Given the description of an element on the screen output the (x, y) to click on. 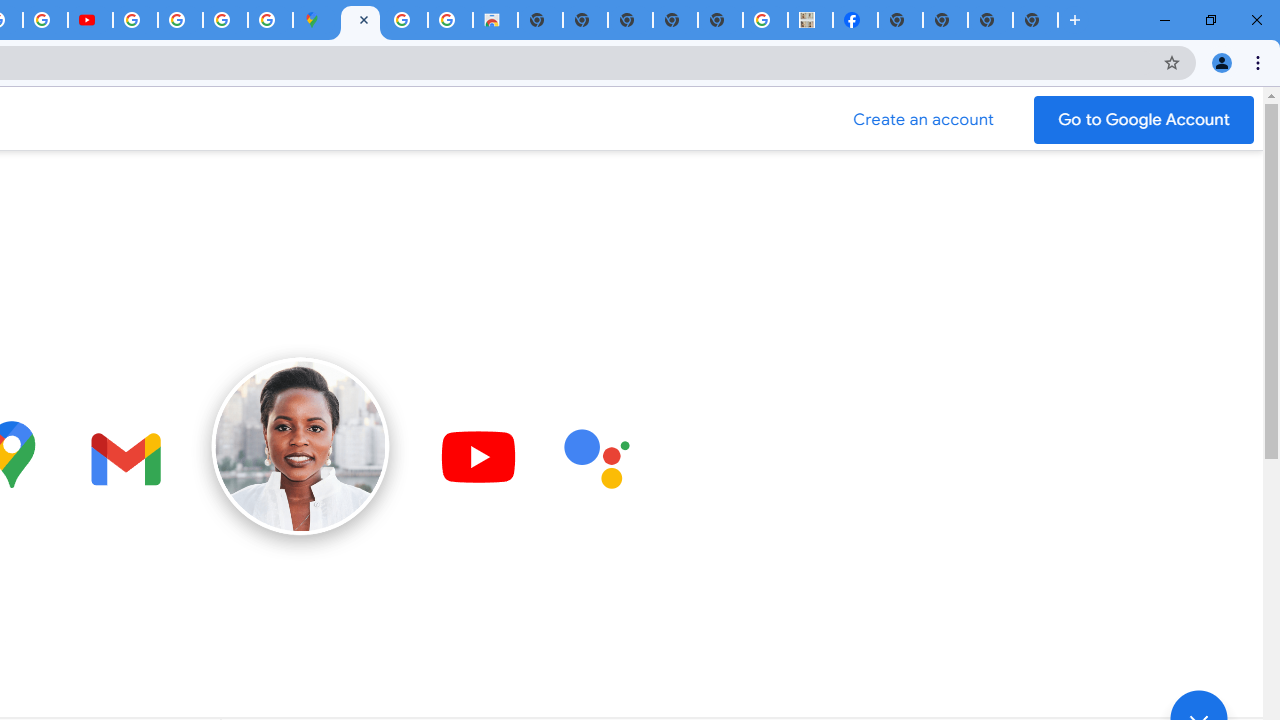
Minimize (1165, 20)
Create a Google Account (923, 119)
Chrome Web Store - Shopping (495, 20)
MILEY CYRUS. (810, 20)
Go to your Google Account (1144, 119)
Miley Cyrus | Facebook (855, 20)
Subscriptions - YouTube (89, 20)
New Tab (1075, 20)
